Given the description of an element on the screen output the (x, y) to click on. 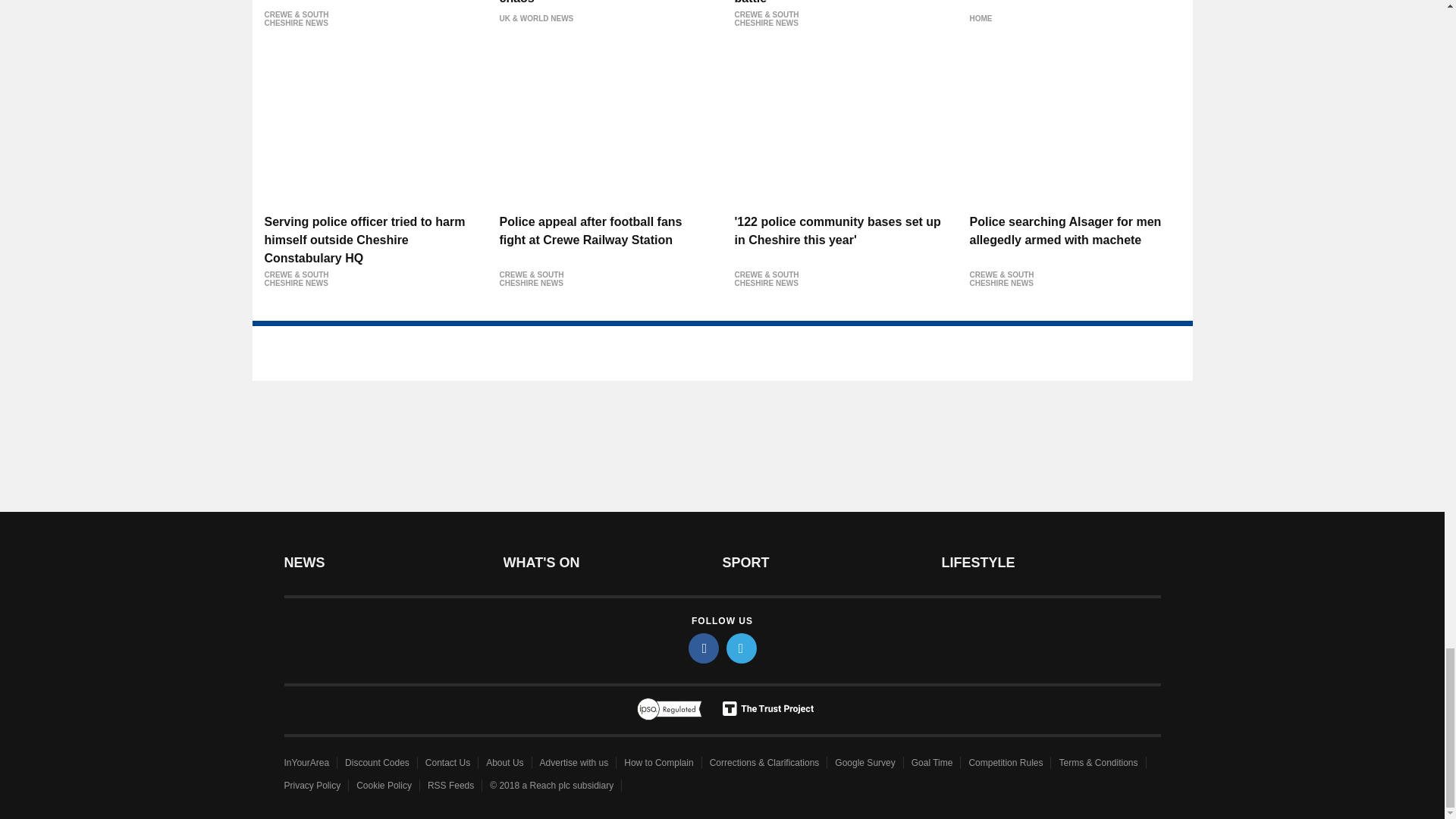
twitter (741, 648)
facebook (703, 648)
